Given the description of an element on the screen output the (x, y) to click on. 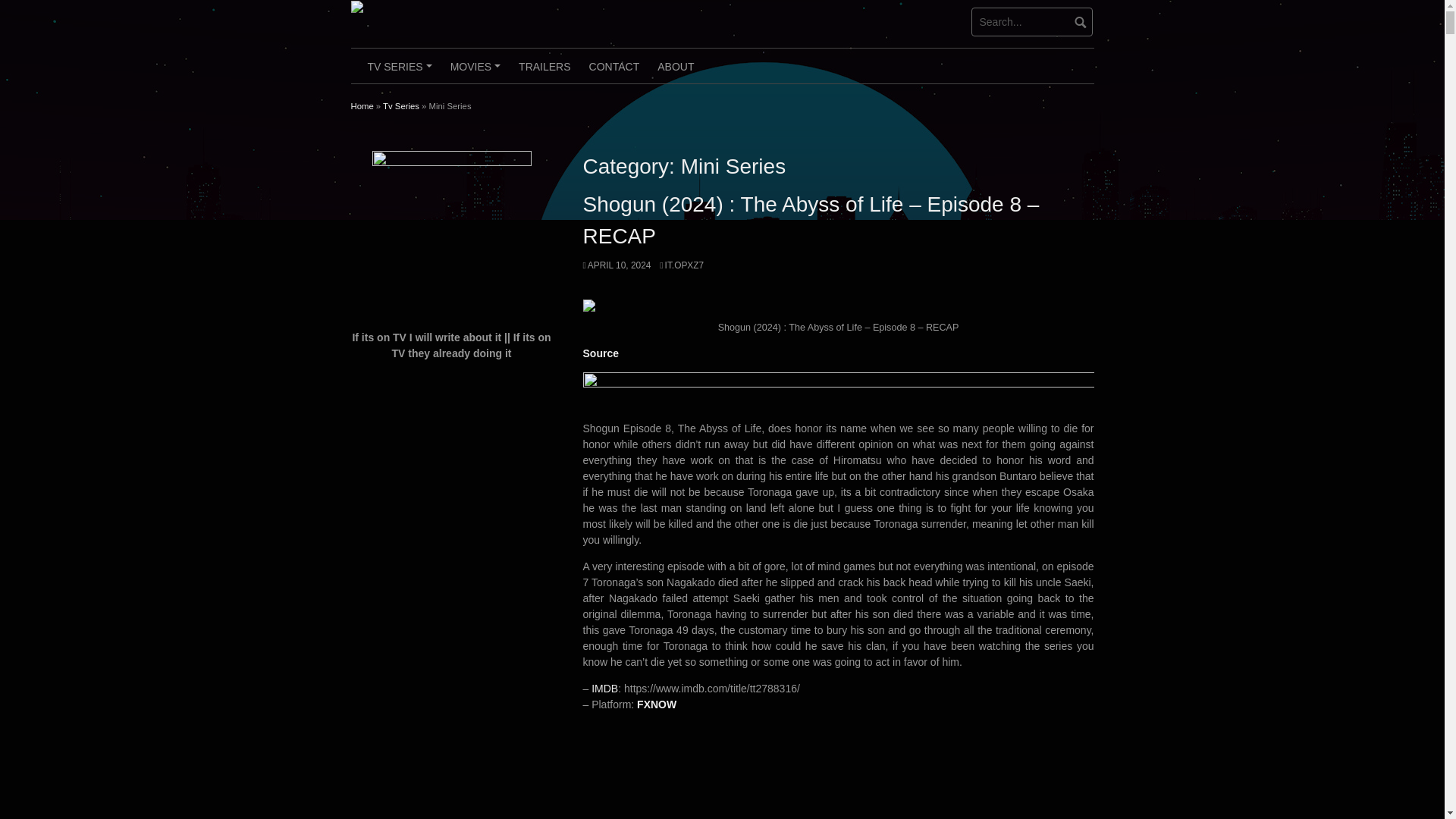
CONTACT (614, 65)
TRAILERS (544, 65)
Home (361, 105)
ABOUT (675, 65)
Search for: (1031, 21)
